Given the description of an element on the screen output the (x, y) to click on. 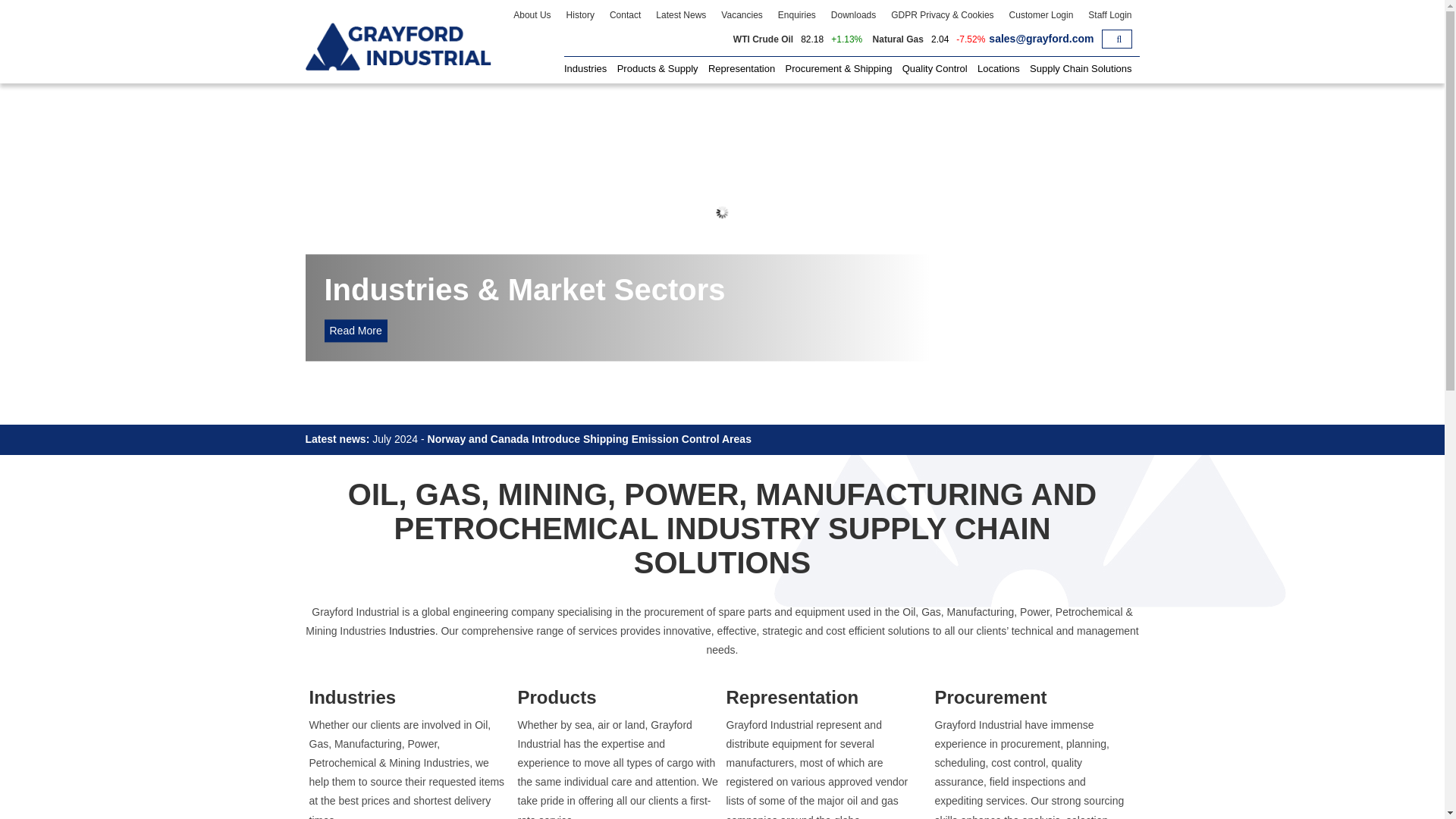
Representation (740, 67)
Latest News (680, 14)
Vacancies (741, 14)
Industries (585, 67)
History (580, 14)
Supply Chain Solutions (1080, 67)
Read More (355, 330)
Products (616, 697)
Vacancies (741, 14)
Locations (998, 67)
Downloads (853, 14)
Staff Login (1109, 14)
Industries (585, 67)
Natural Gas (897, 39)
